Given the description of an element on the screen output the (x, y) to click on. 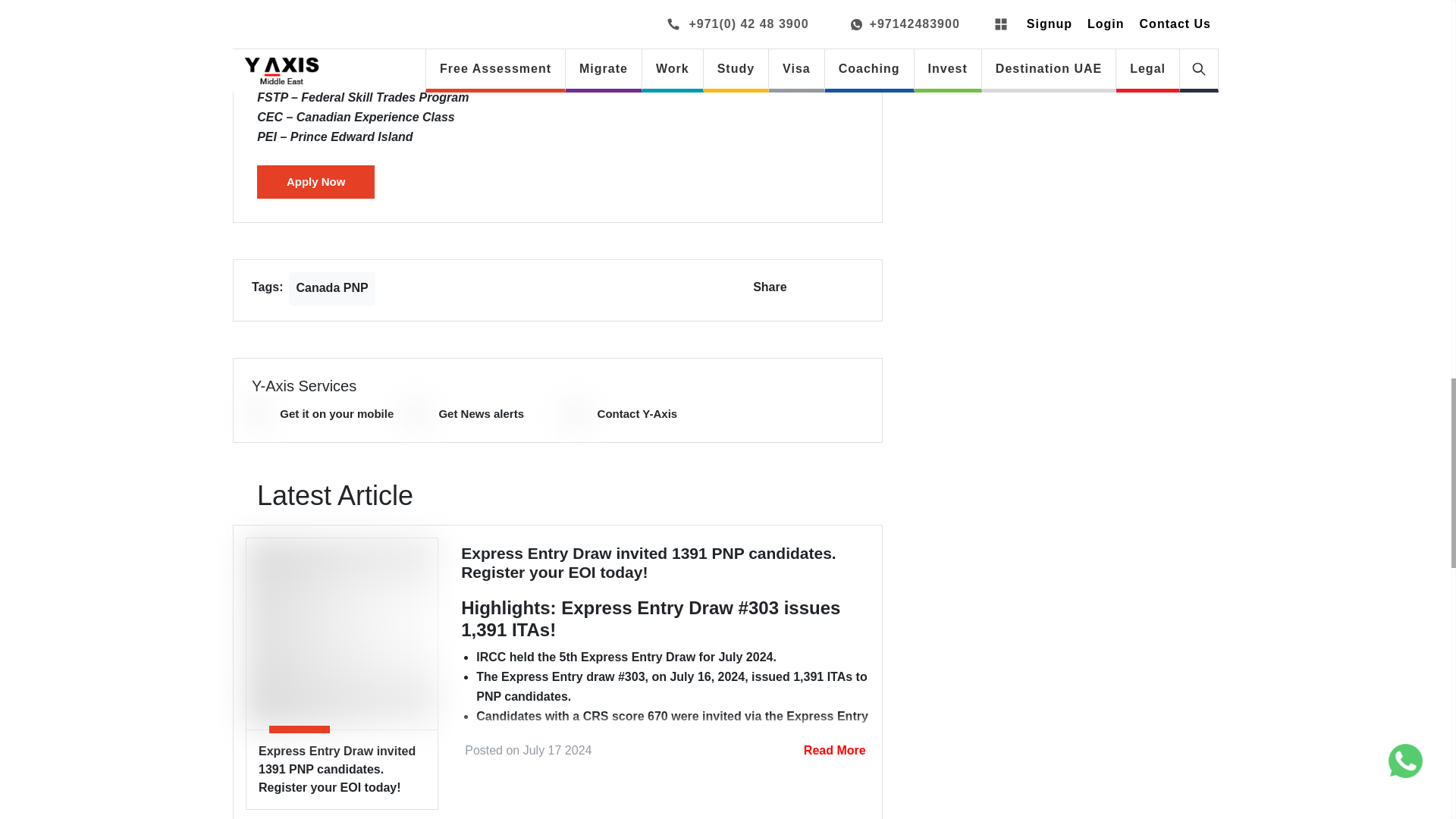
Express Entry Draw (342, 633)
Personalized Services (418, 414)
Personalized Services (576, 414)
Apply Now (315, 182)
Personalized Services (259, 414)
